Given the description of an element on the screen output the (x, y) to click on. 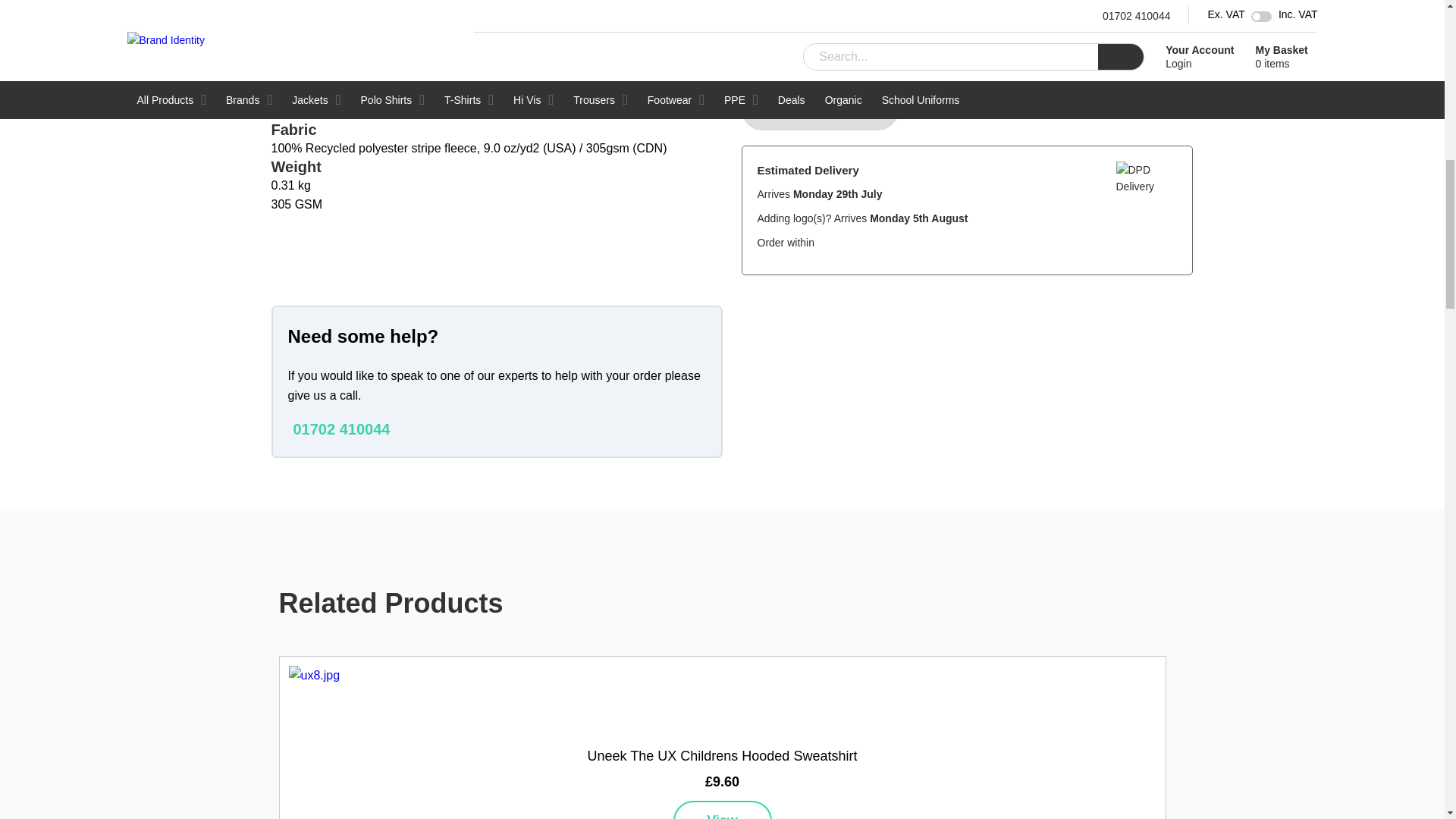
Add to Basket (820, 109)
0 (1157, 55)
0 (1157, 20)
